Given the description of an element on the screen output the (x, y) to click on. 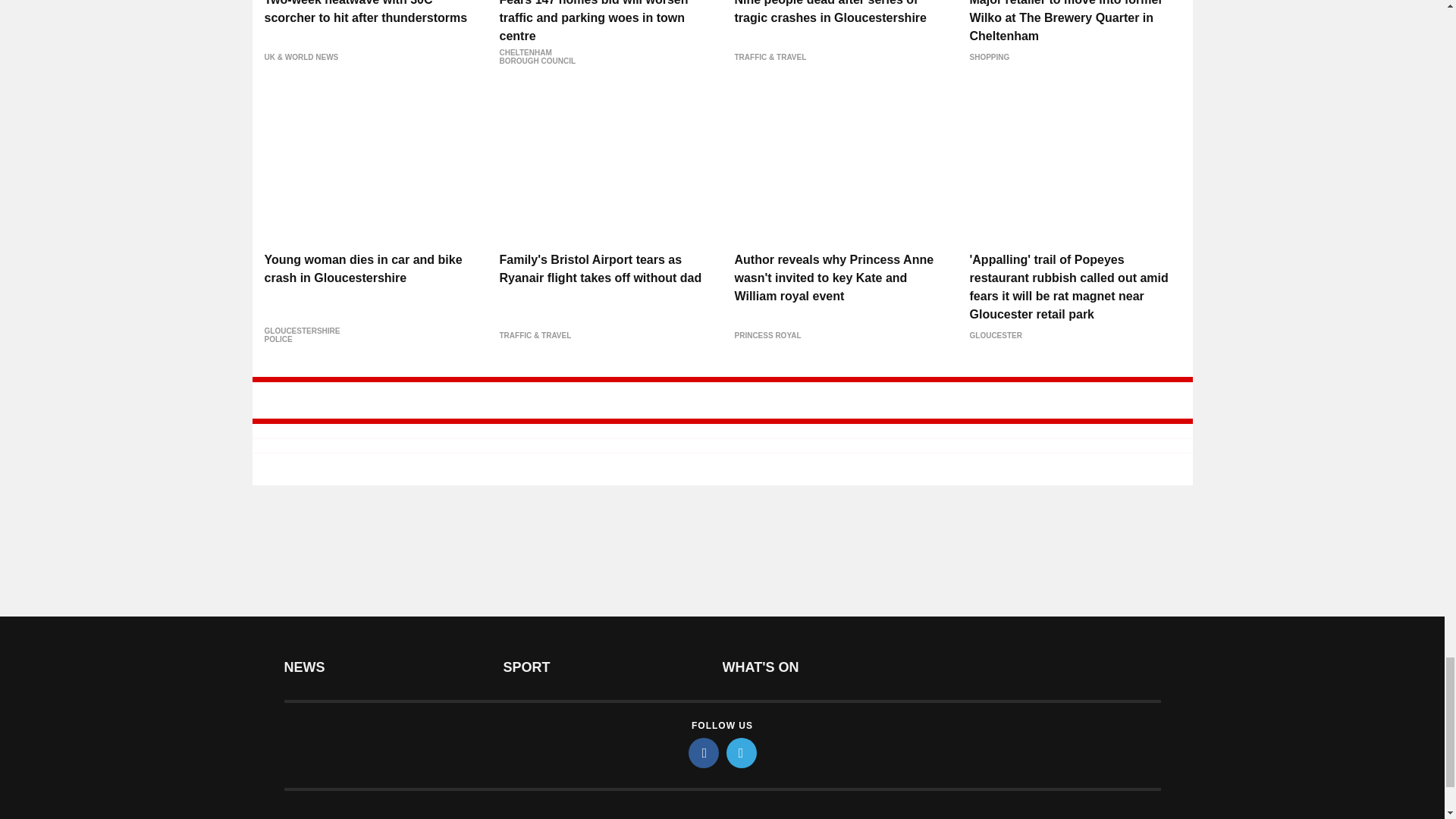
twitter (741, 752)
facebook (703, 752)
